Given the description of an element on the screen output the (x, y) to click on. 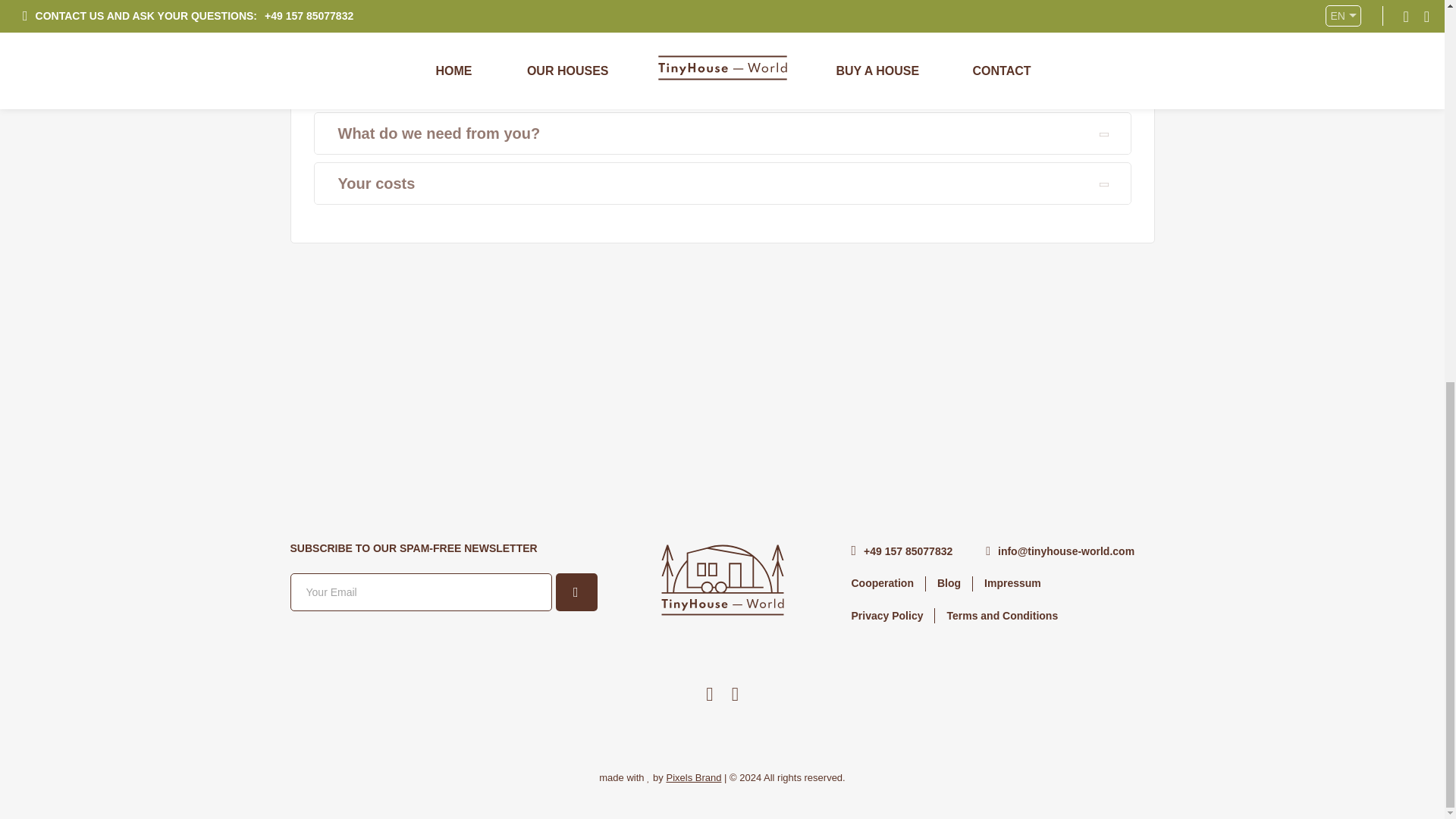
What do we need from you? (721, 133)
What would that look like? (721, 83)
Cooperation (882, 582)
Pixels Brand (692, 777)
Terms and Conditions (1001, 615)
How can we work together? (721, 33)
Blog (948, 582)
Your costs (721, 183)
Privacy Policy (887, 615)
Impressum (1012, 582)
